Given the description of an element on the screen output the (x, y) to click on. 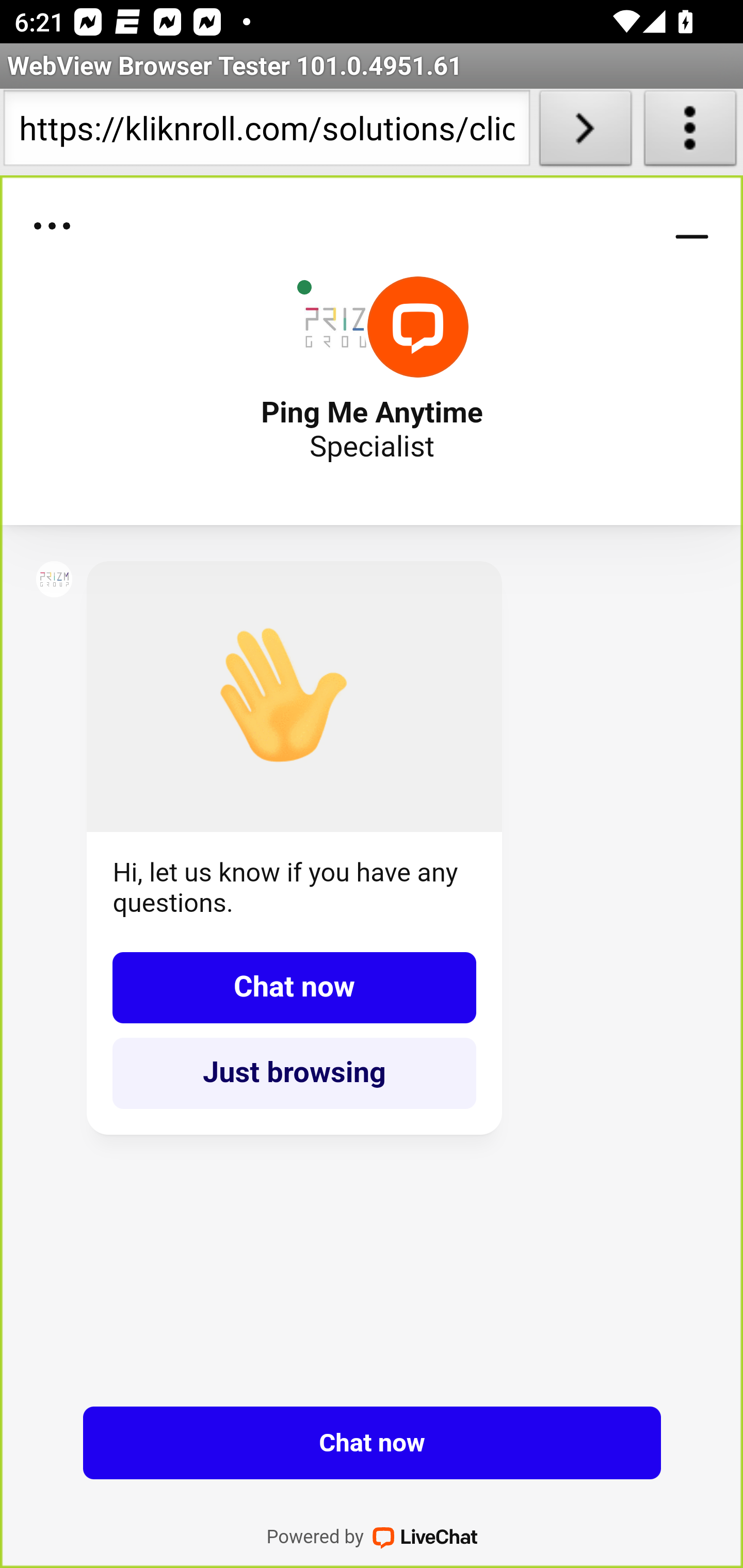
Load URL (585, 132)
About WebView (690, 132)
